Given the description of an element on the screen output the (x, y) to click on. 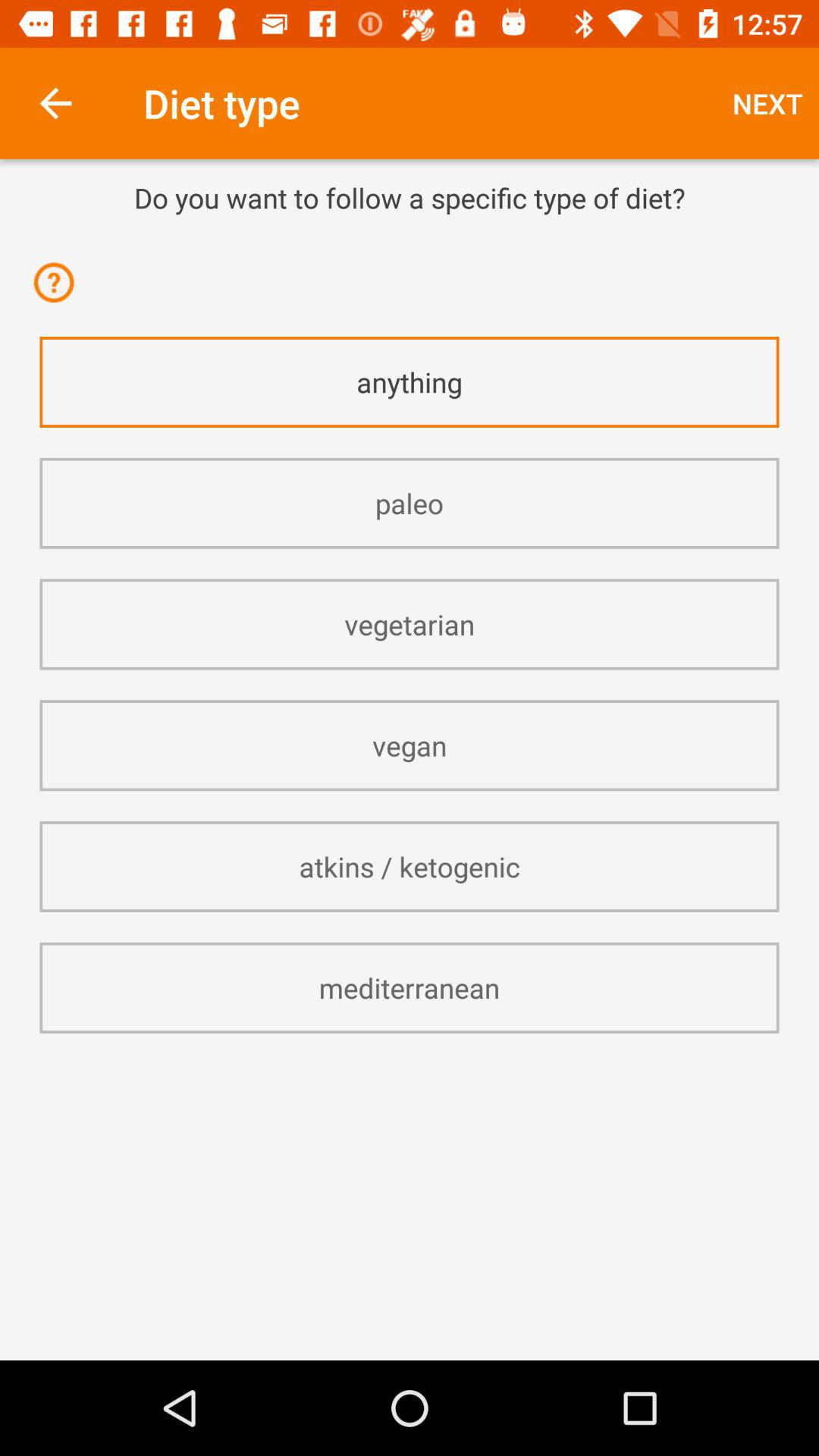
launch the item above anything item (58, 292)
